Given the description of an element on the screen output the (x, y) to click on. 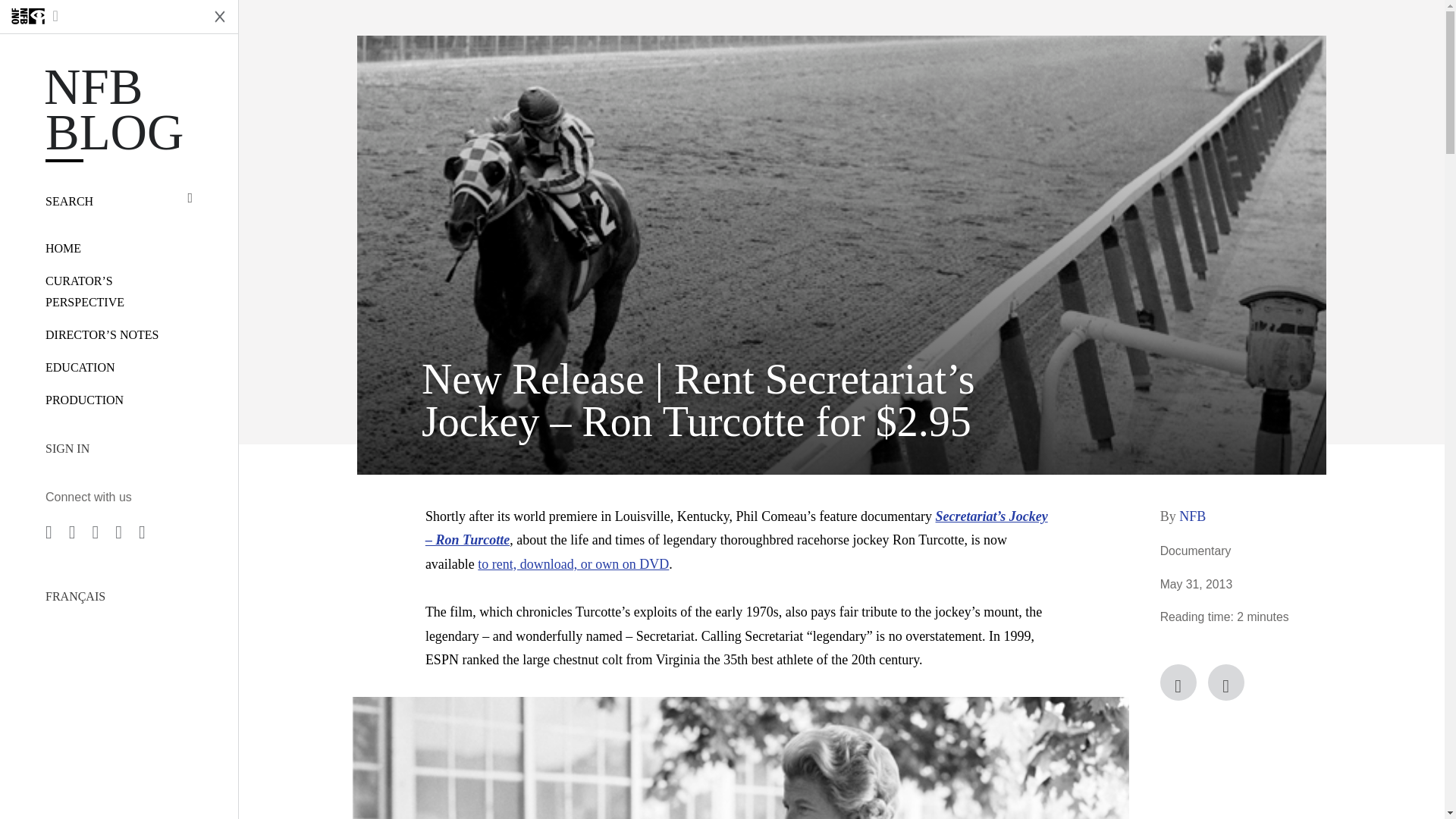
to rent, download, or own on DVD (572, 563)
EDUCATION (80, 367)
SEARCH (118, 201)
HOME (63, 247)
Twitter (1226, 682)
SIGN IN (118, 448)
NFB (1192, 516)
Facebook (1178, 682)
Documentary (1195, 550)
NFB Blog (118, 108)
